Given the description of an element on the screen output the (x, y) to click on. 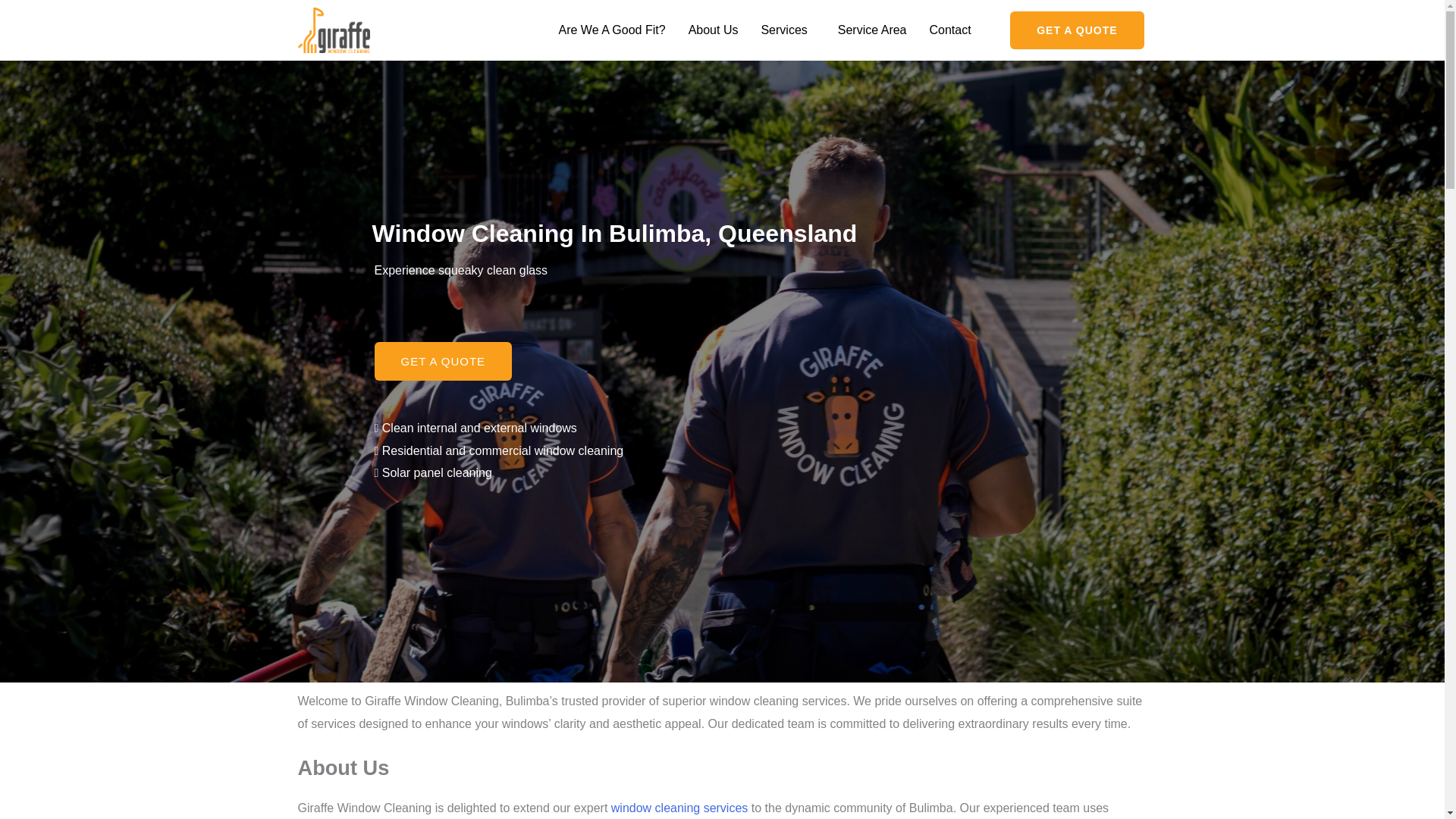
GET A QUOTE (1076, 30)
Services (787, 30)
Service Area (872, 30)
Are We A Good Fit? (612, 30)
Contact (950, 30)
About Us (713, 30)
GET A QUOTE (443, 361)
window cleaning services (679, 807)
